Given the description of an element on the screen output the (x, y) to click on. 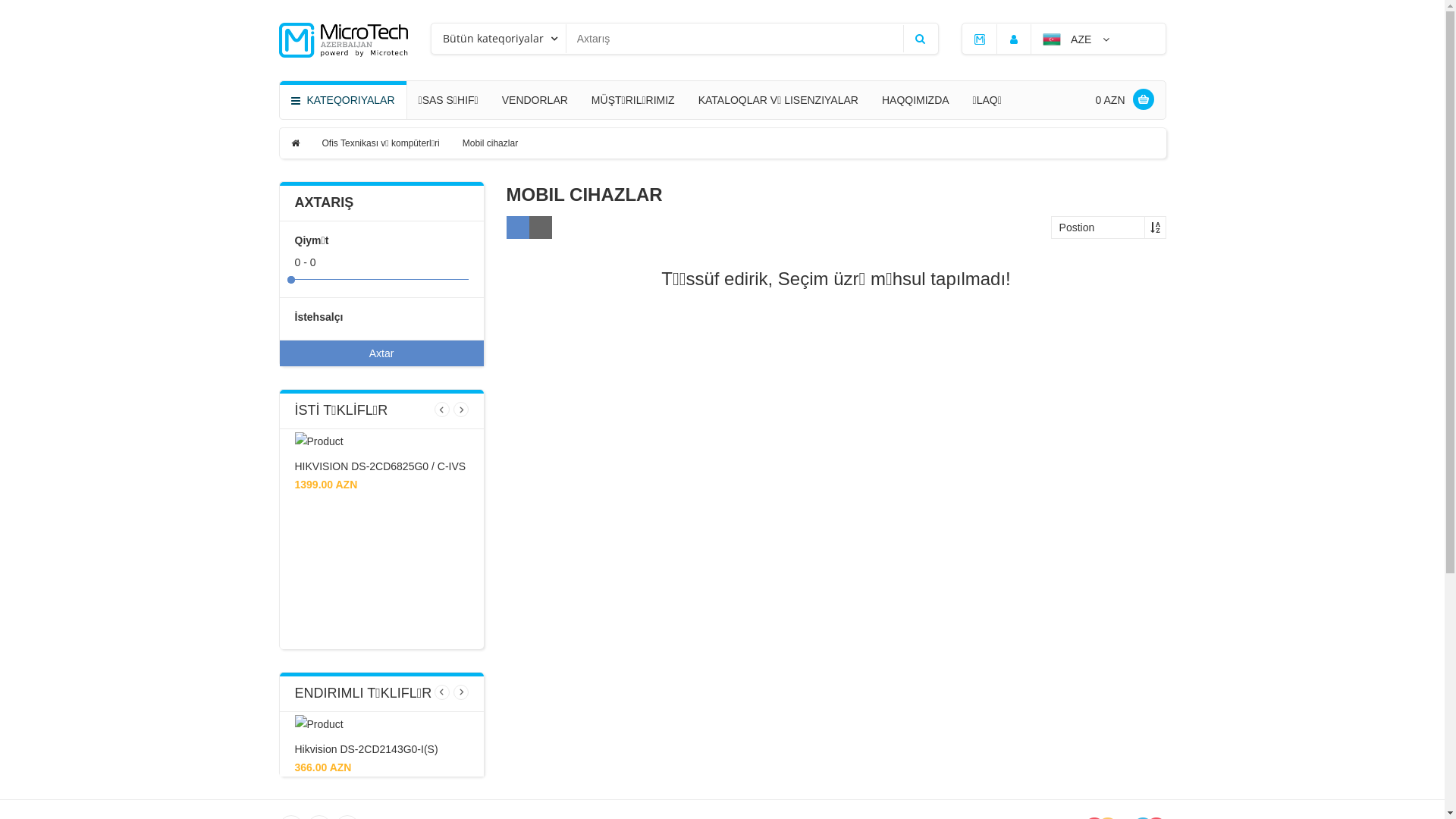
Mobil cihazlar Element type: text (489, 143)
KATEQORIYALAR Element type: text (342, 100)
Hikvision DS-2CD1021-I Element type: text (351, 466)
Microtech Element type: hover (980, 39)
AZE Element type: text (1075, 39)
Hikvision DS-2CD2143G0-I(S) Element type: text (365, 749)
Axtar Element type: text (381, 353)
HAQQIMIZDA Element type: text (915, 100)
VENDORLAR Element type: text (534, 100)
